Given the description of an element on the screen output the (x, y) to click on. 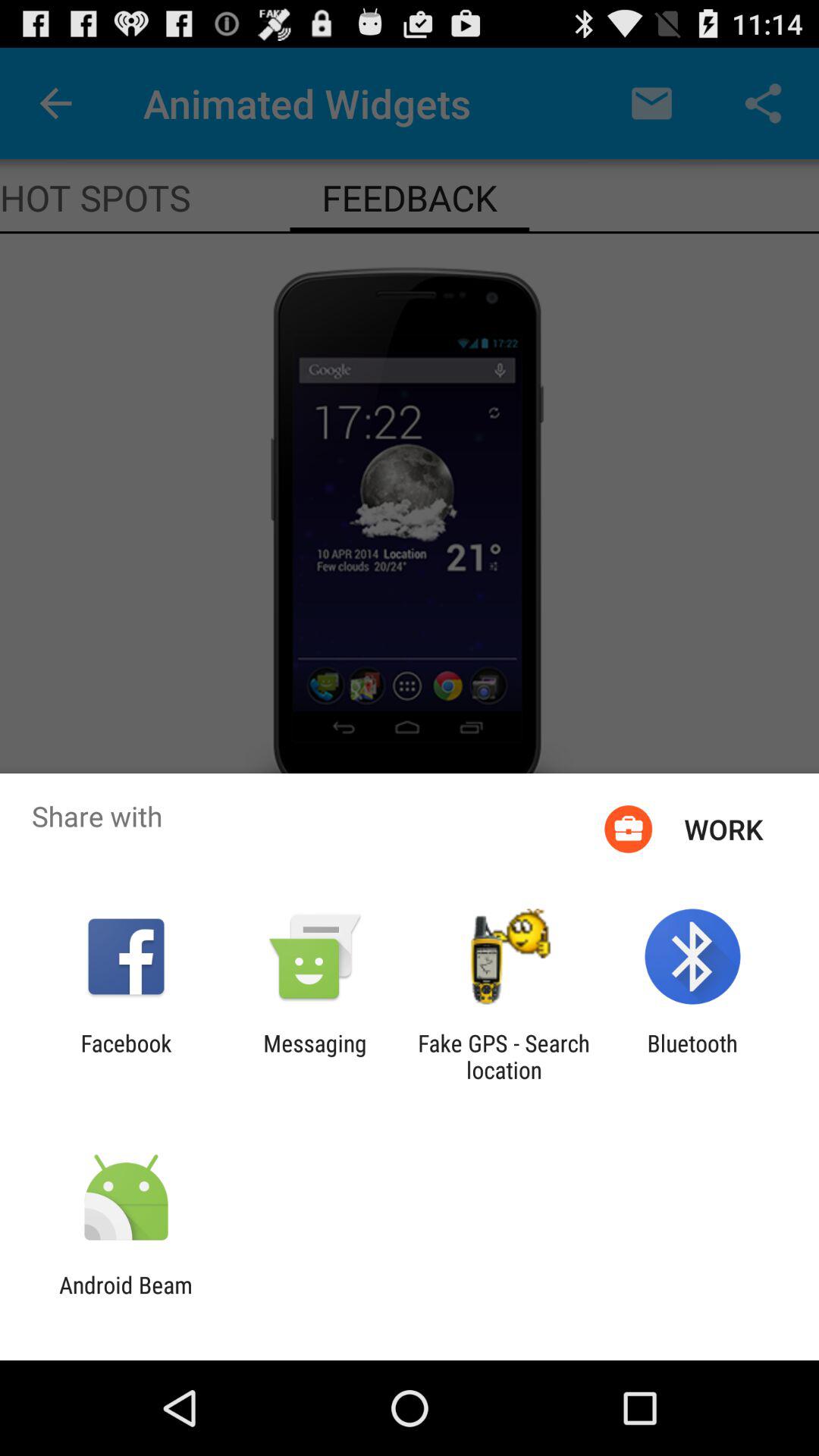
jump until messaging app (314, 1056)
